Given the description of an element on the screen output the (x, y) to click on. 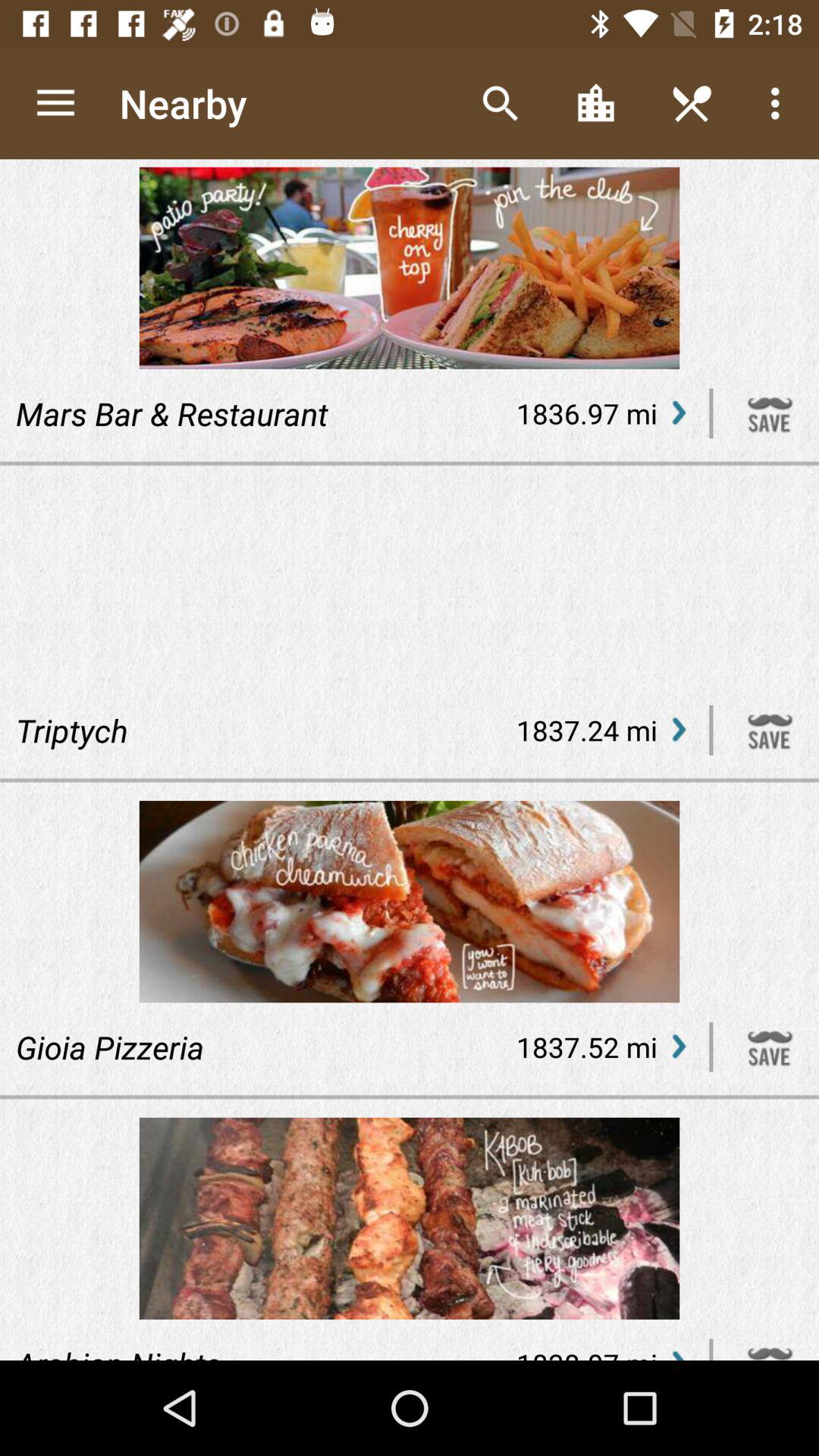
saves your search preference (770, 413)
